Given the description of an element on the screen output the (x, y) to click on. 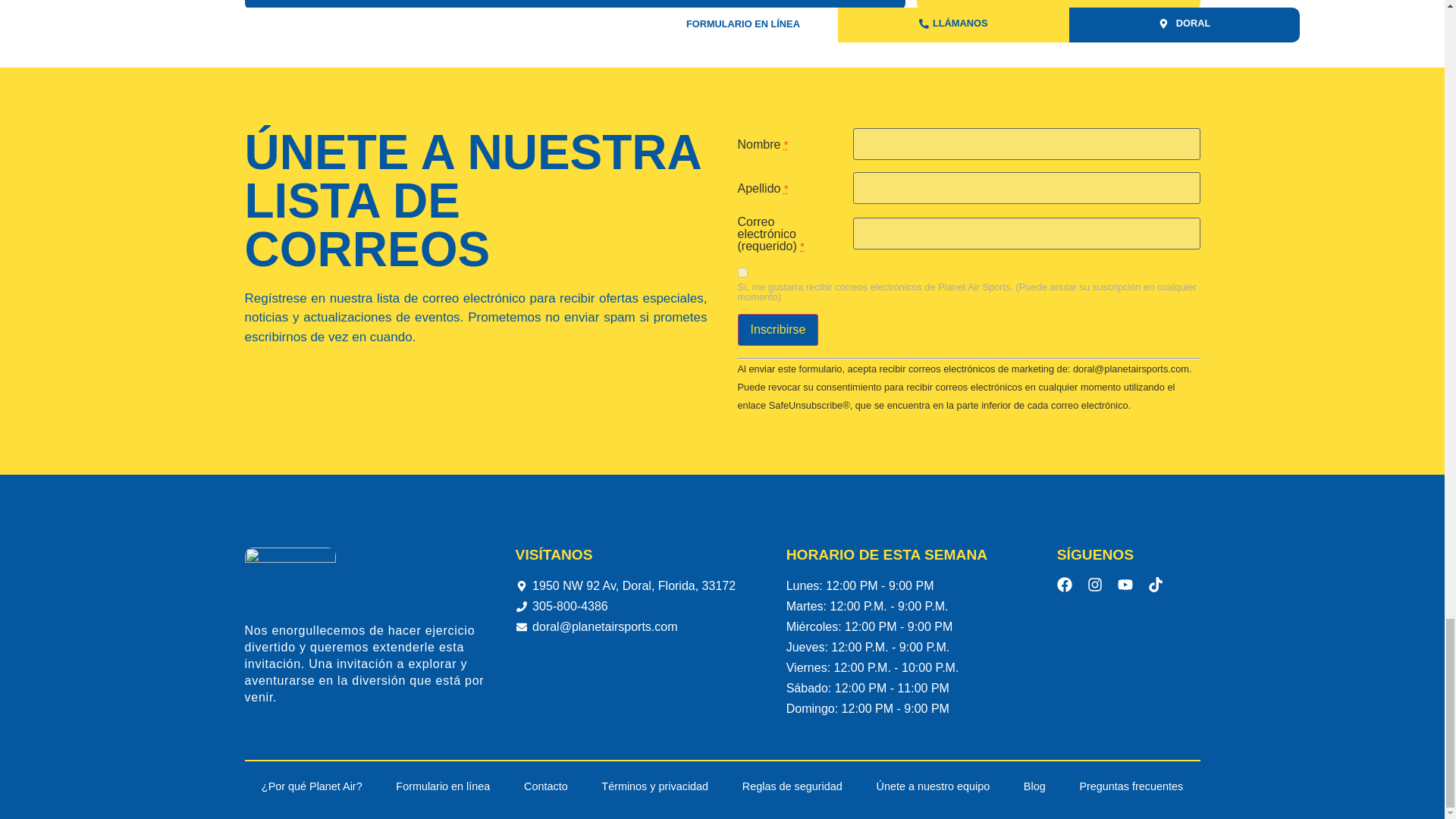
1 (741, 272)
Inscribirse (777, 329)
